Given the description of an element on the screen output the (x, y) to click on. 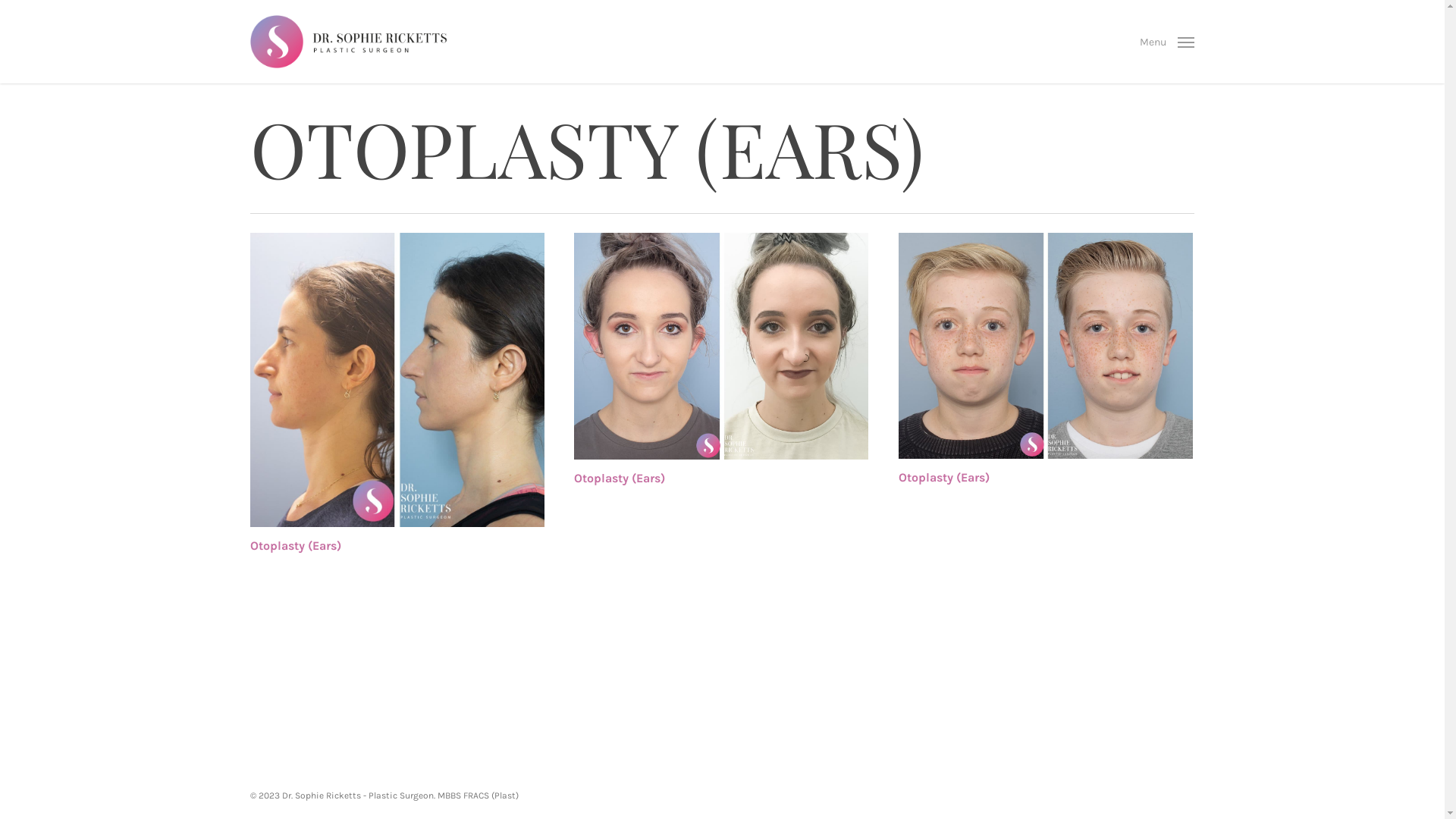
Menu Element type: text (1166, 41)
